Given the description of an element on the screen output the (x, y) to click on. 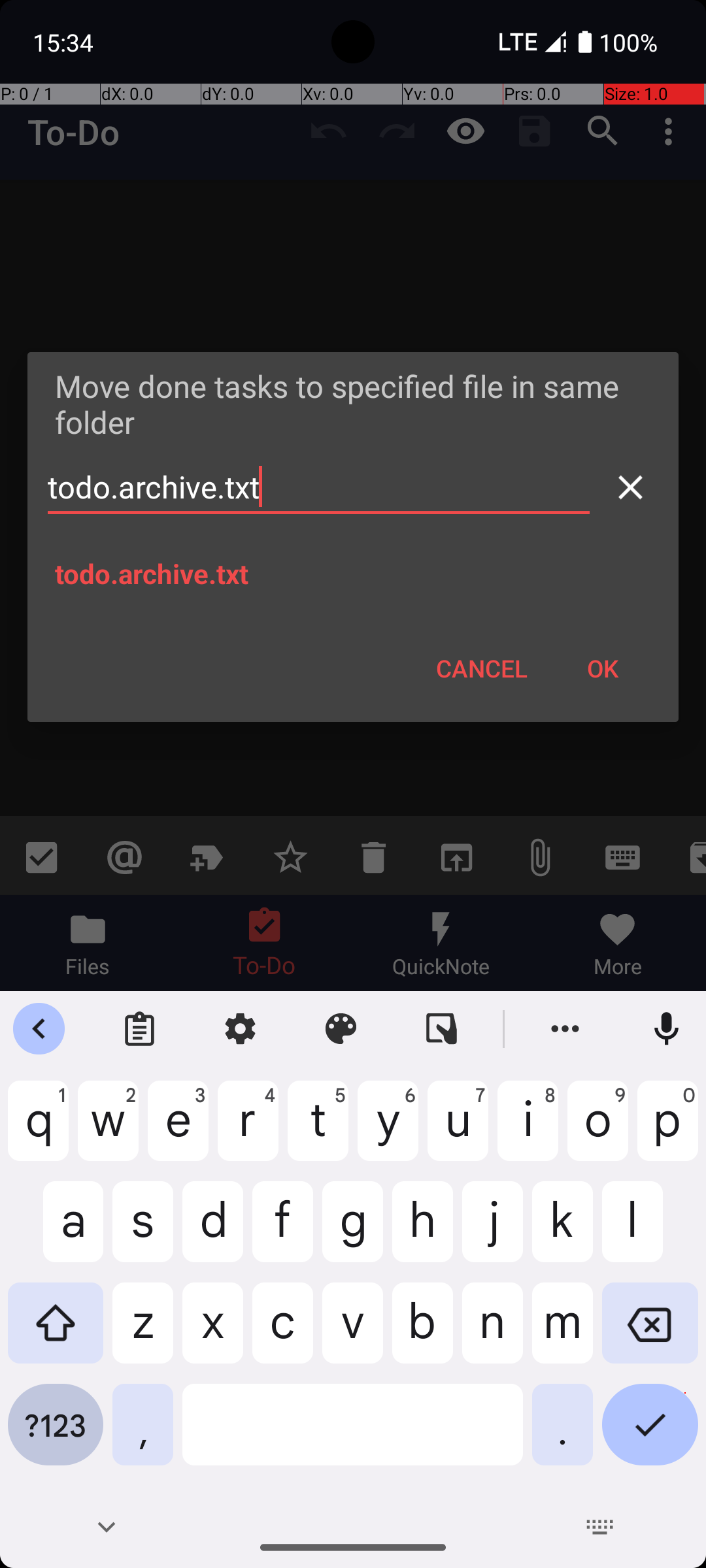
Move done tasks to specified file in same folder Element type: android.widget.TextView (352, 403)
todo.archive.txt Element type: android.widget.EditText (318, 486)
